Given the description of an element on the screen output the (x, y) to click on. 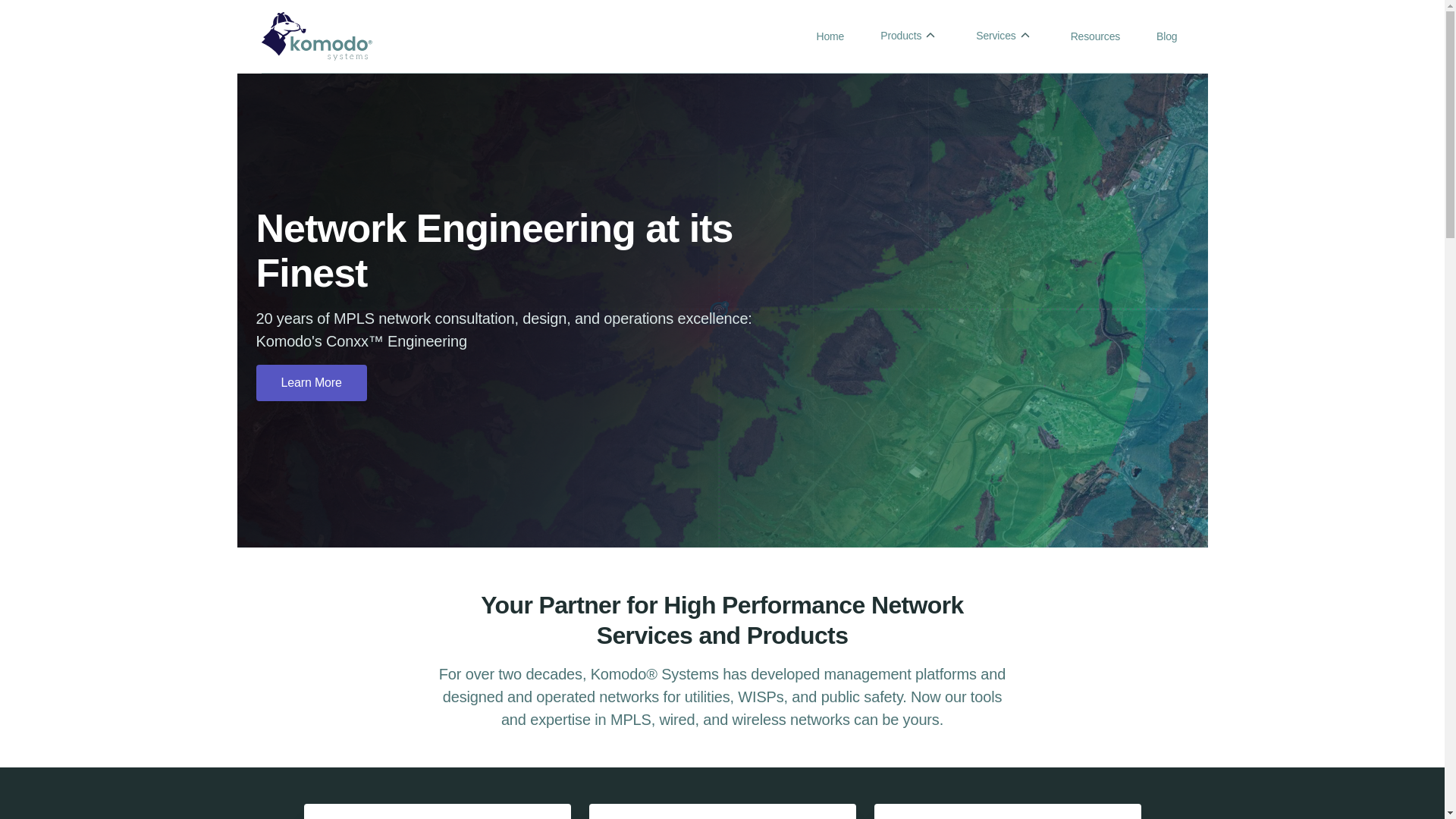
Komodo Eye (316, 36)
Services (1004, 35)
Products (909, 35)
Resources (1094, 36)
Learn More (311, 382)
